Given the description of an element on the screen output the (x, y) to click on. 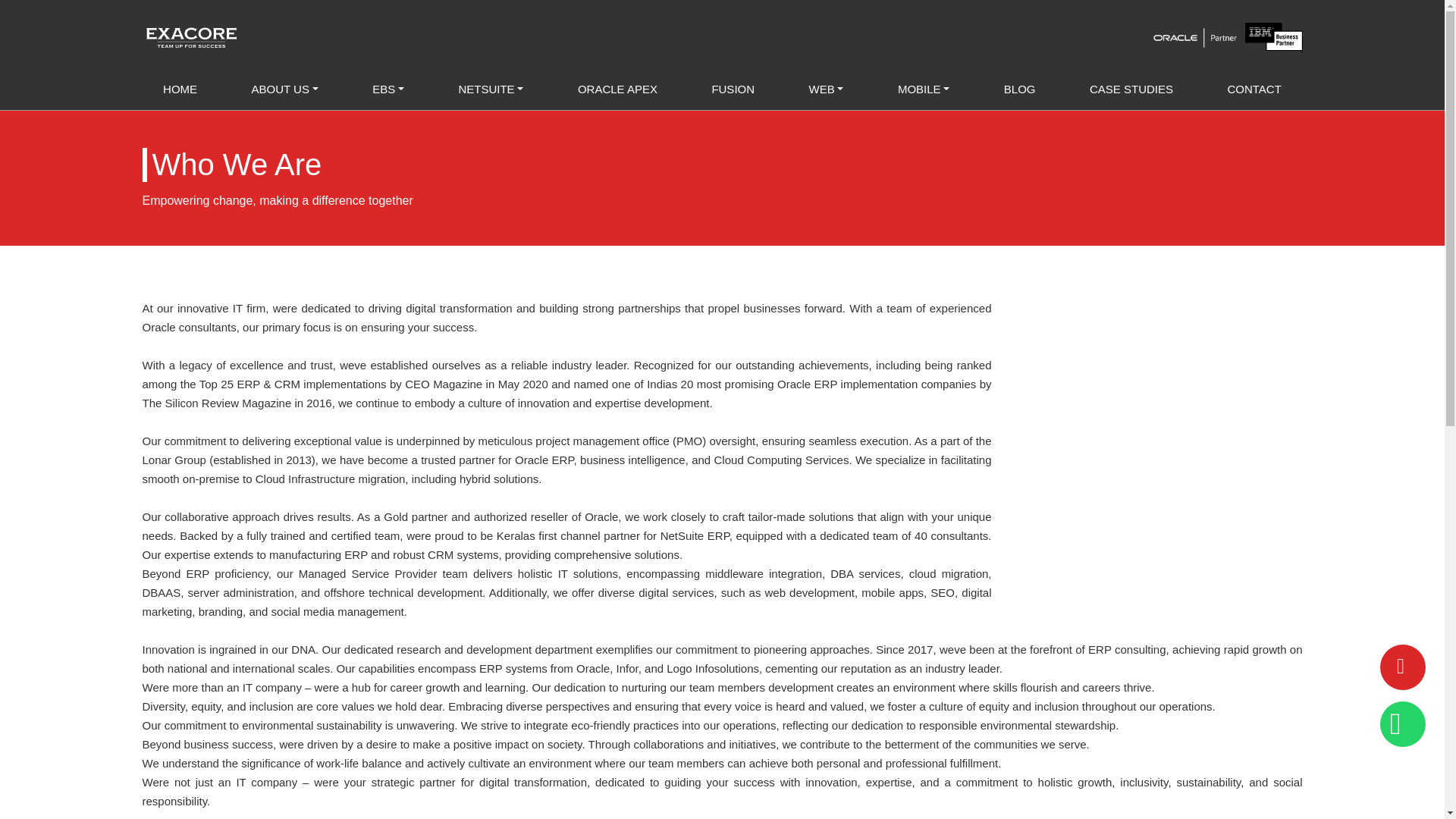
WEB (825, 88)
Exacore IT Solutions Pvt Ltd. (191, 37)
EBS (388, 88)
ABOUT US (284, 88)
Oracle Gold Partner (1194, 37)
FUSION (733, 88)
IBM Business Partner (1272, 37)
ORACLE APEX (616, 88)
NETSUITE (491, 88)
